Given the description of an element on the screen output the (x, y) to click on. 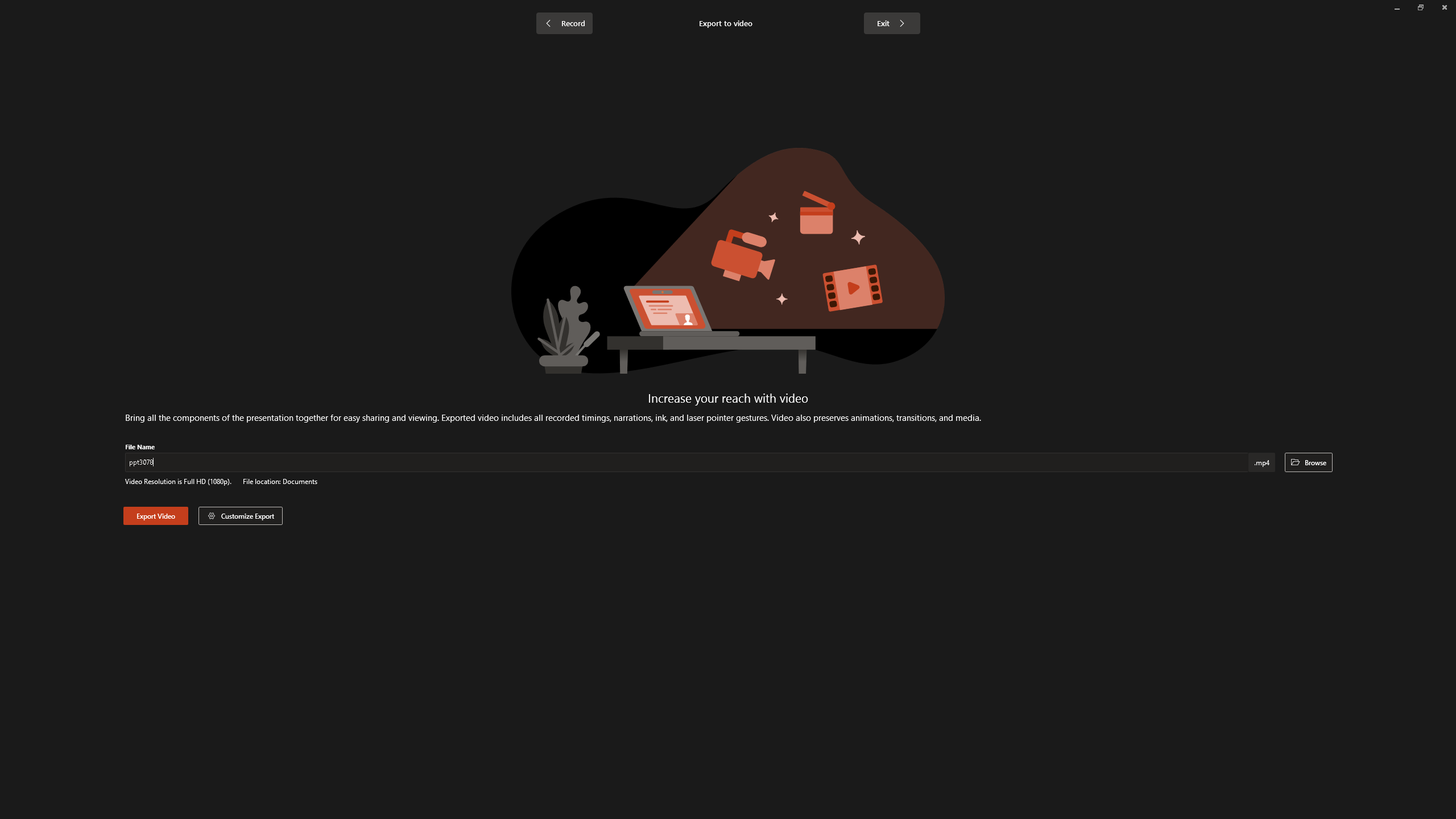
From Current Slide... (127, 58)
From Beginning... (89, 58)
